Given the description of an element on the screen output the (x, y) to click on. 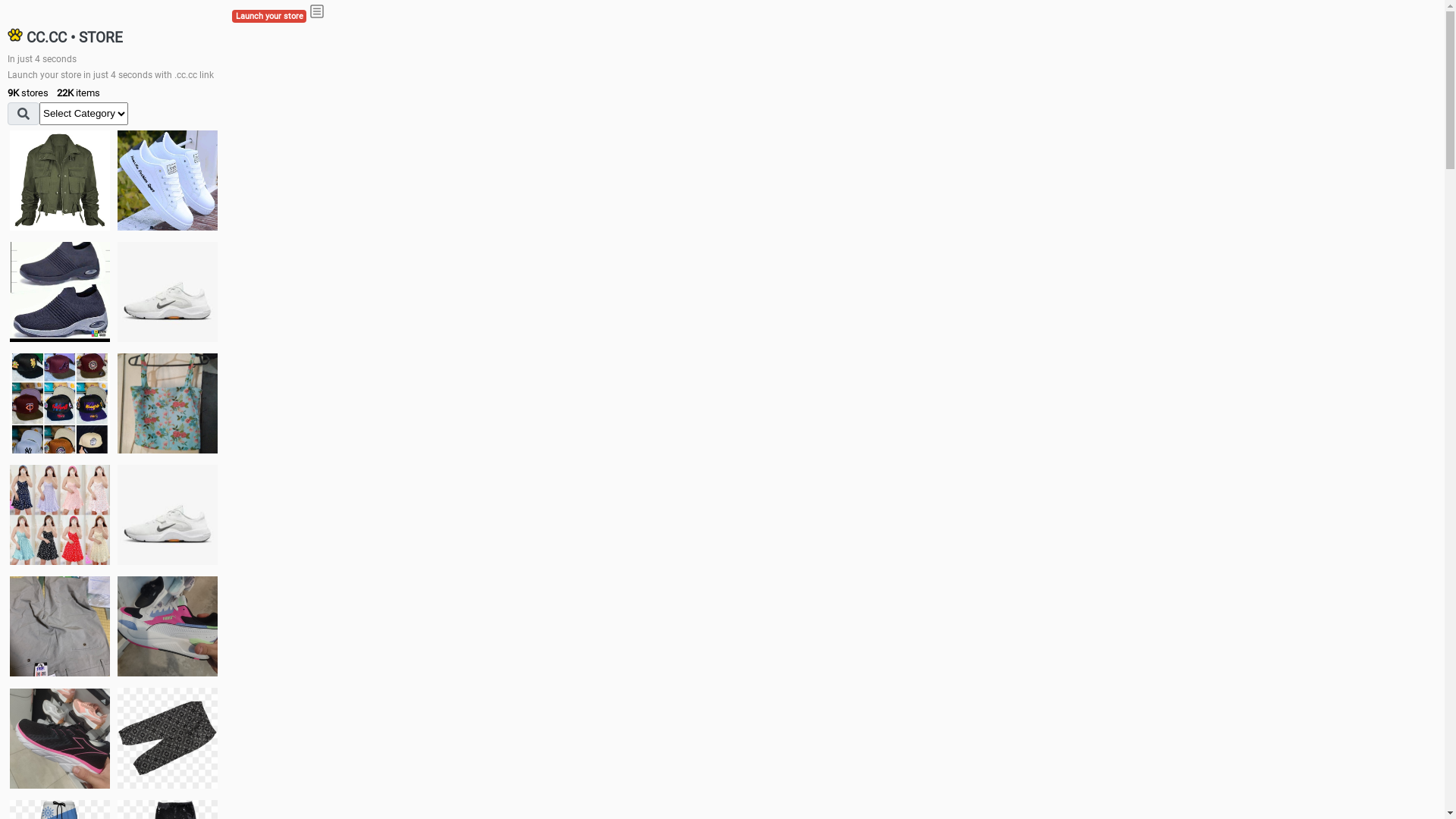
jacket Element type: hover (59, 180)
Ukay cloth Element type: hover (167, 403)
Launch your store Element type: text (269, 15)
Shoes for boys Element type: hover (167, 291)
Shoes Element type: hover (167, 514)
white shoes Element type: hover (167, 180)
Zapatillas Element type: hover (59, 738)
Things we need Element type: hover (59, 403)
Dress/square nect top Element type: hover (59, 514)
Zapatillas pumas Element type: hover (167, 626)
shoes for boys Element type: hover (59, 291)
Short pant Element type: hover (167, 737)
